Given the description of an element on the screen output the (x, y) to click on. 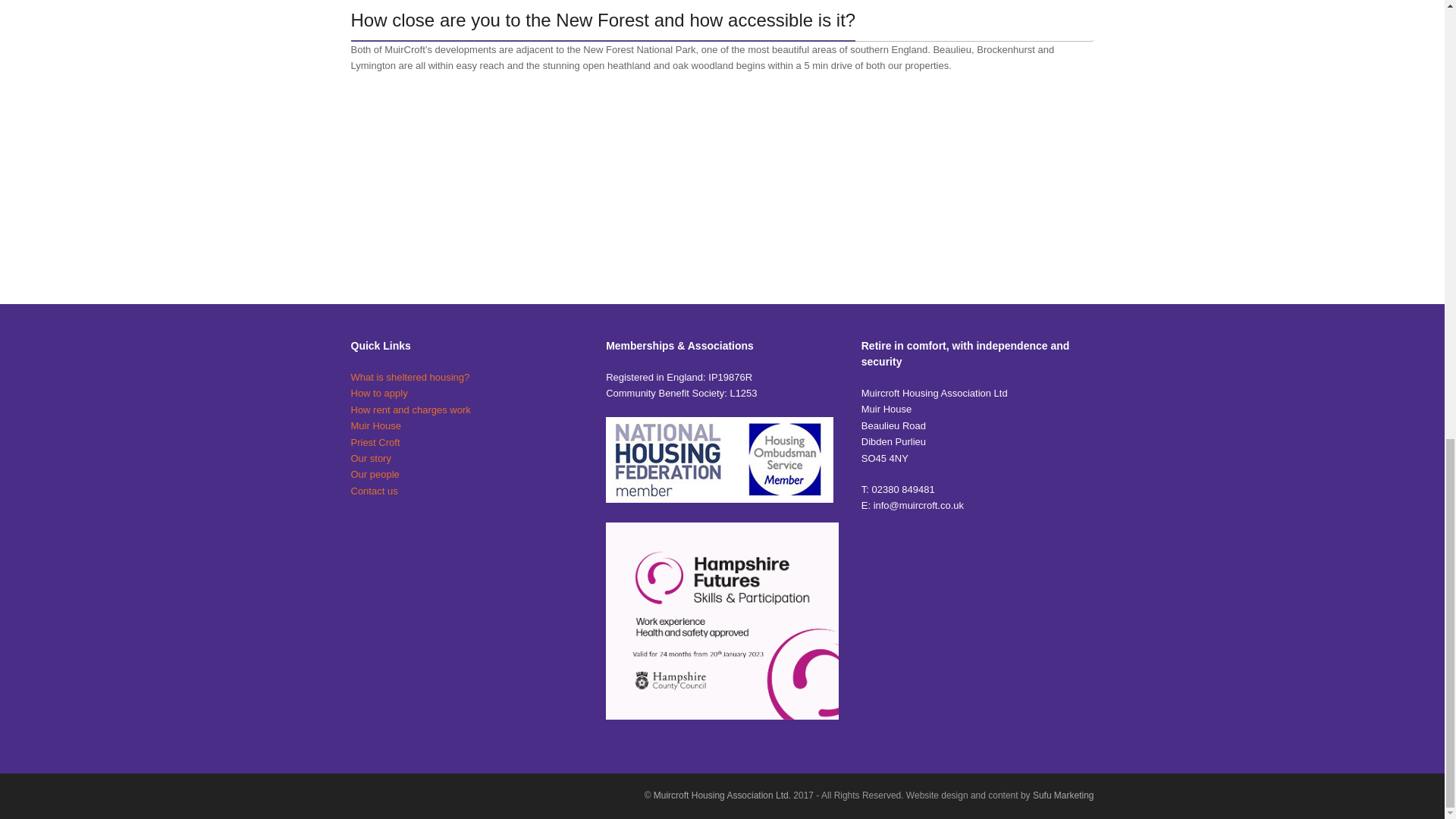
How to apply (378, 392)
How rent and charges work (410, 409)
Sufu Marketing (1063, 795)
Contact us (373, 490)
What is sheltered housing? (409, 377)
Priest Croft (374, 441)
Muir House (375, 425)
Our story (370, 458)
Muircroft Housing Association Ltd. (723, 795)
Our people (374, 473)
